Given the description of an element on the screen output the (x, y) to click on. 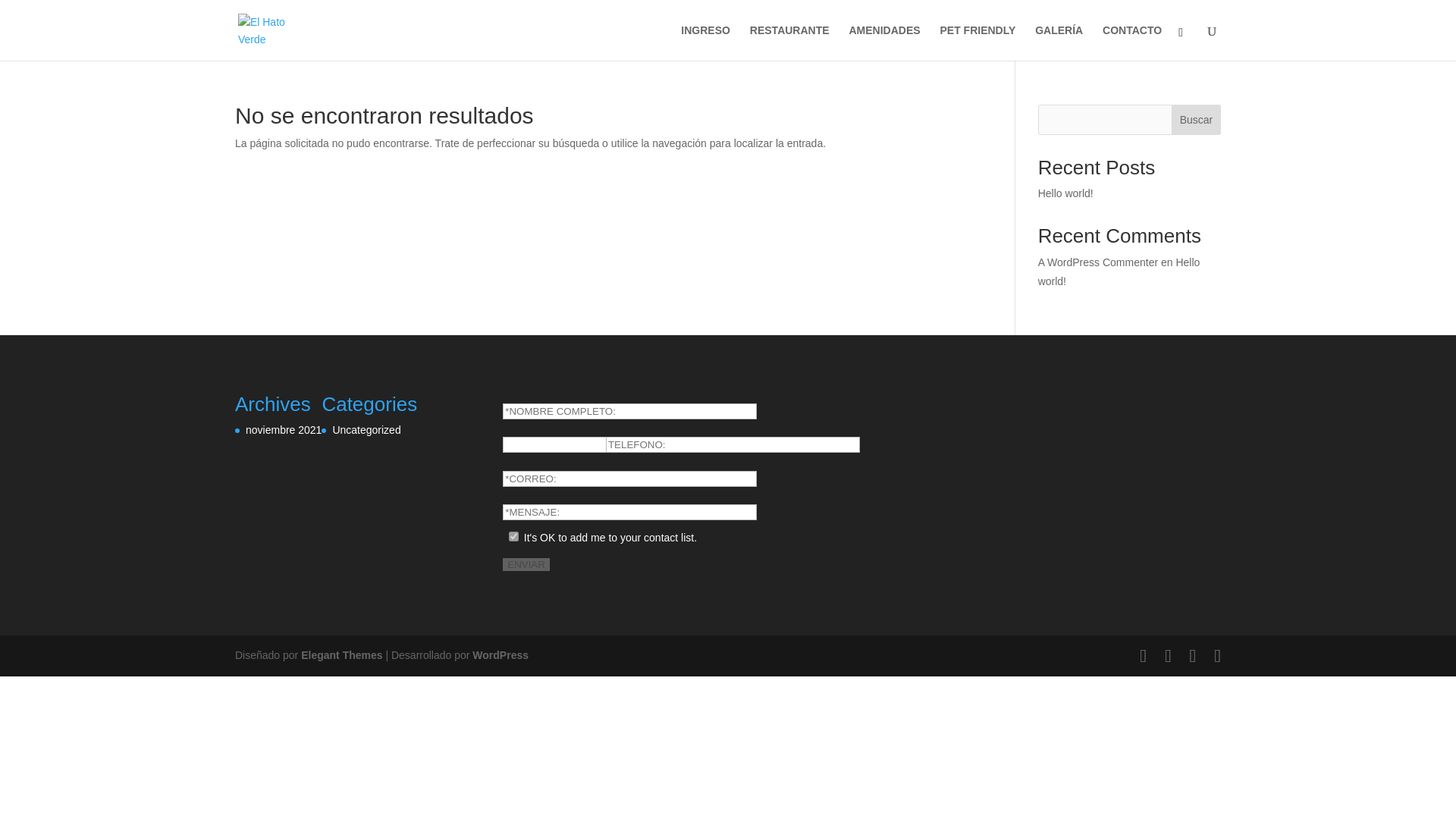
Uncategorized (365, 429)
INGRESO (705, 42)
PET FRIENDLY (976, 42)
CONTACTO (1131, 42)
Buscar (1196, 119)
AMENIDADES (884, 42)
RESTAURANTE (789, 42)
ENVIAR (526, 563)
Hello world! (1065, 193)
WordPress (499, 654)
